Given the description of an element on the screen output the (x, y) to click on. 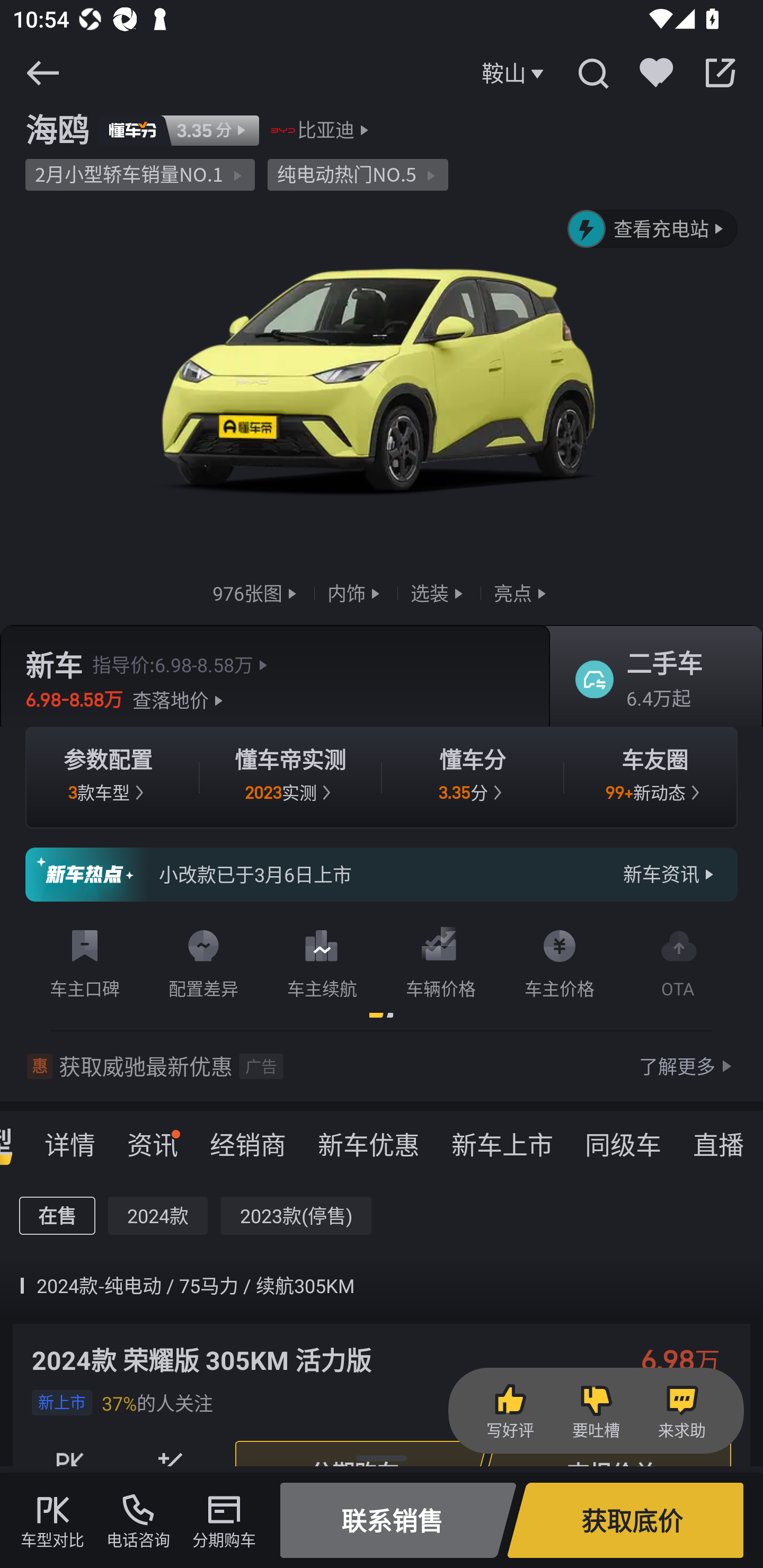
 (42, 72)
 (592, 72)
 (720, 72)
鞍山 (514, 73)
比亚迪 (325, 130)
2月小型轿车销量NO.1  (139, 174)
纯电动热门NO.5  (357, 174)
查看充电站  (652, 228)
976张图 (256, 592)
内饰 (355, 592)
选装 (438, 592)
亮点 (521, 592)
二手车 6.4万起 (650, 679)
指导价:6.98-8.58万 (182, 664)
查落地价 (180, 699)
参数配置 3 款车型  (107, 777)
懂车帝实测 2023 实测  (290, 777)
懂车分 3.35 分  (472, 777)
车友圈 99+ 新动态  (654, 777)
小改款已于3月6日上市 新车资讯 (381, 874)
车主口碑 (84, 960)
配置差异 (203, 960)
车主续航 (321, 960)
车辆价格 (440, 960)
车主价格 (559, 960)
OTA (677, 960)
惠 获取威驰最新优惠 广告 了解更多  (381, 1065)
详情 (69, 1138)
资讯 (152, 1138)
经销商 (247, 1138)
新车优惠 (368, 1138)
新车上市 (502, 1138)
同级车 (623, 1138)
直播 (717, 1138)
在售 (57, 1215)
2024款 (157, 1215)
2023款(停售) (295, 1215)
写好评 (510, 1410)
要吐槽 (595, 1410)
来求助 (681, 1410)
车型对比 (52, 1520)
电话咨询 (138, 1520)
分期购车 (224, 1520)
联系销售 (398, 1519)
获取底价 (625, 1519)
